Given the description of an element on the screen output the (x, y) to click on. 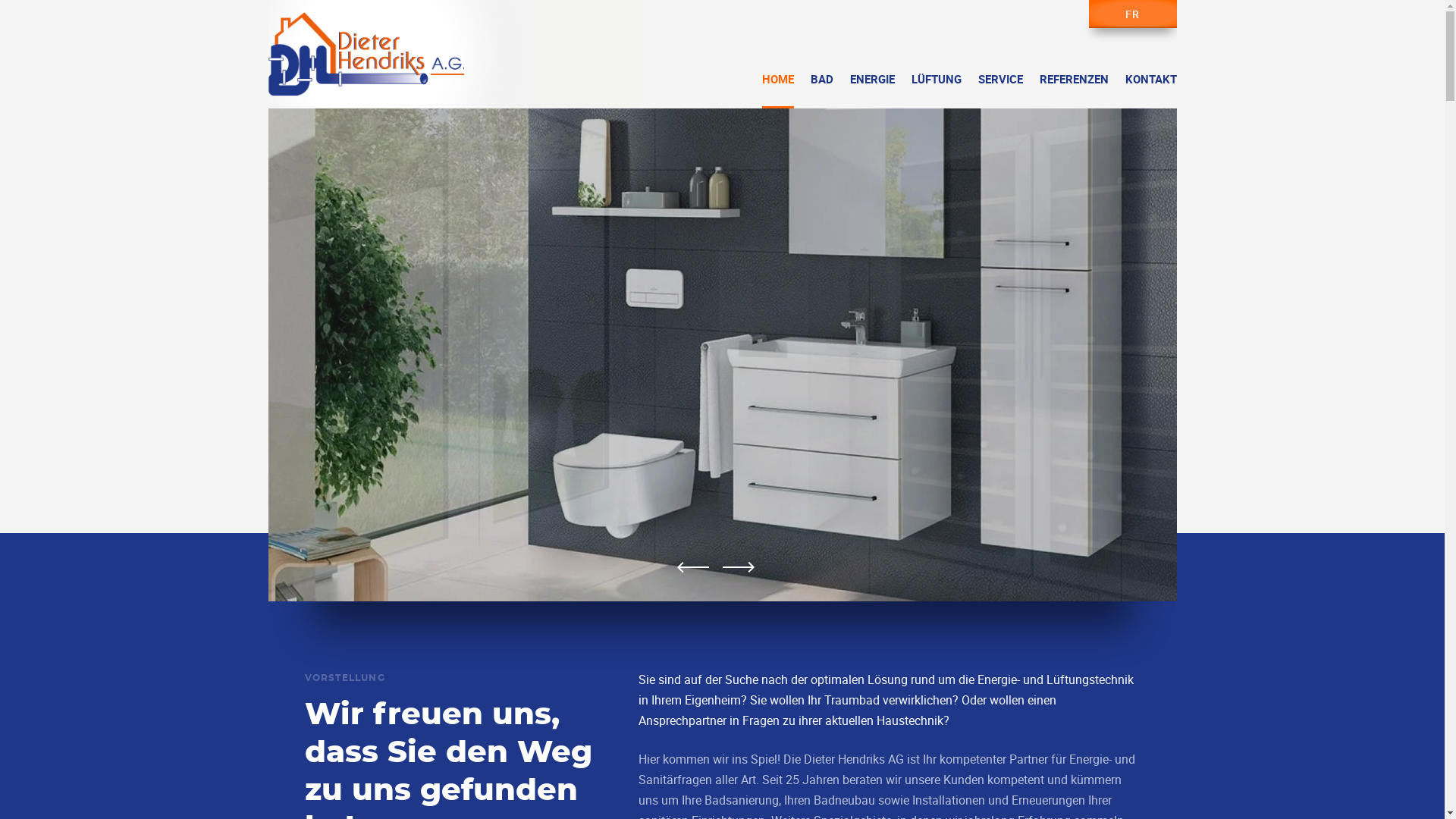
REFERENZEN Element type: text (1072, 90)
HOME Element type: text (777, 90)
ENERGIE Element type: text (871, 90)
FR Element type: text (1132, 14)
KONTAKT Element type: text (1150, 90)
BAD Element type: text (820, 90)
SERVICE Element type: text (1000, 90)
